Given the description of an element on the screen output the (x, y) to click on. 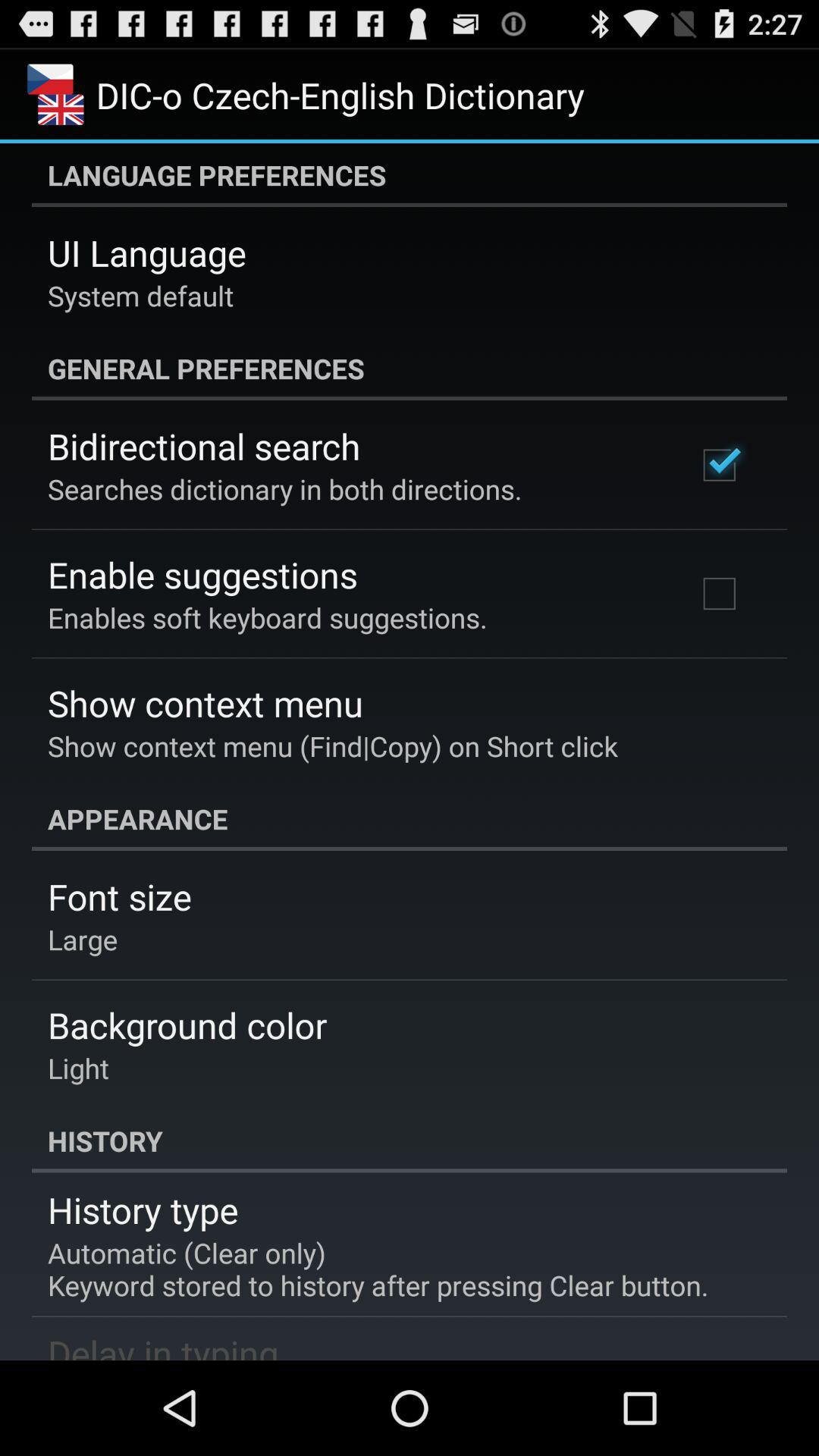
turn off app below history item (142, 1209)
